Given the description of an element on the screen output the (x, y) to click on. 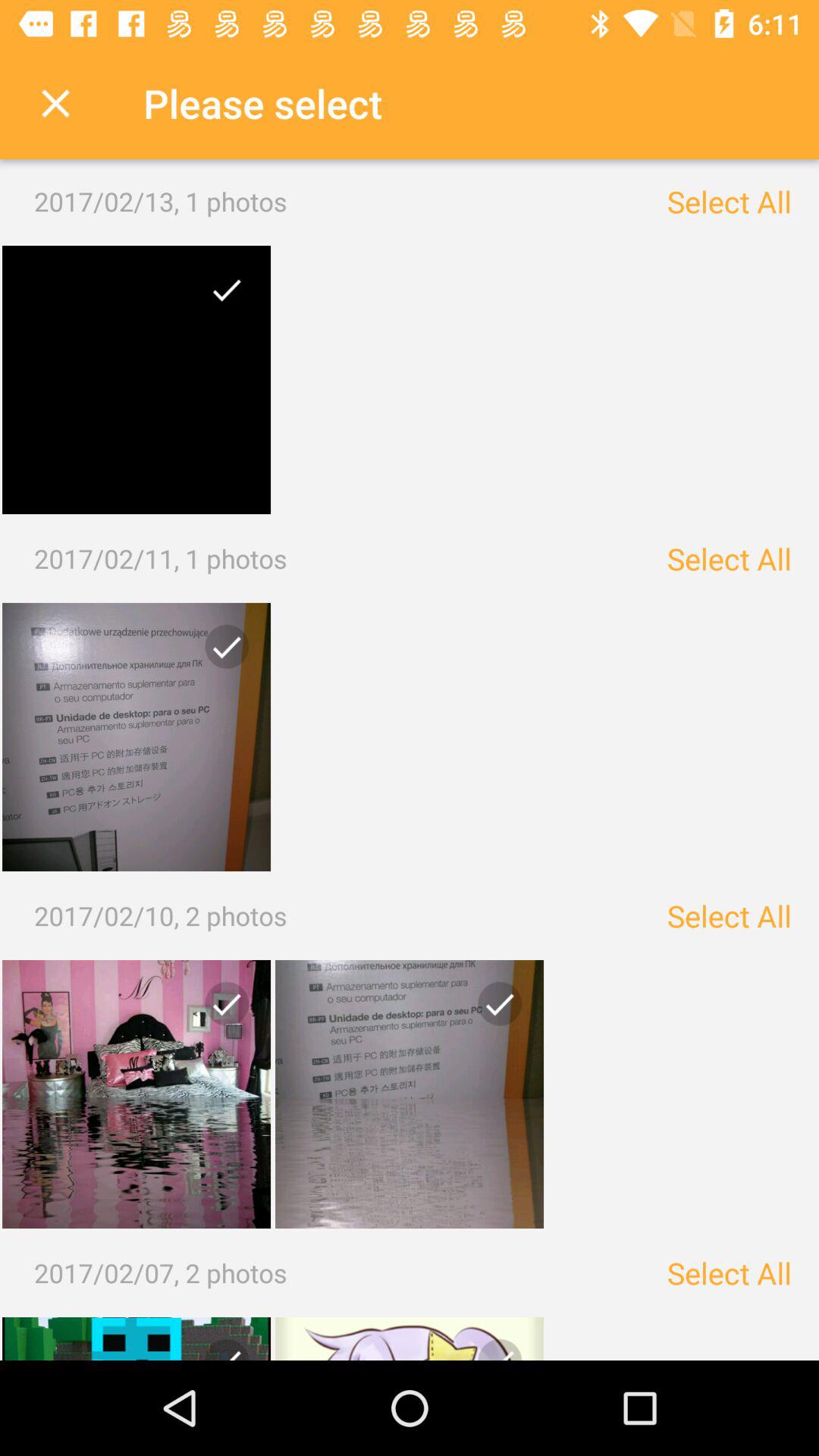
select photo (409, 1094)
